Given the description of an element on the screen output the (x, y) to click on. 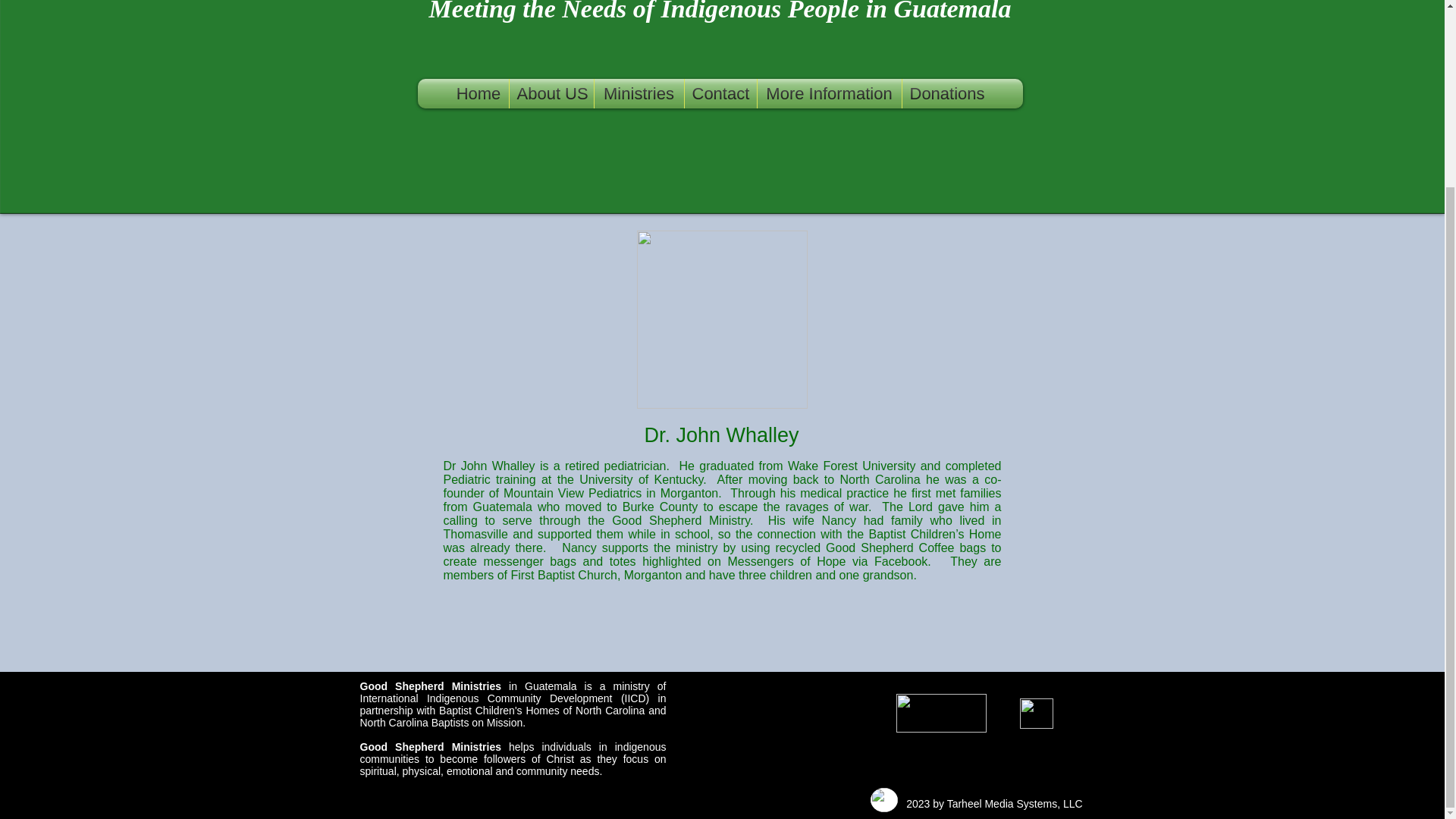
Home (478, 93)
More Information (829, 93)
About US (551, 93)
DrJohnWhalley-225x235.jpg (722, 319)
Contact (719, 93)
Ministries (639, 93)
Donations (946, 93)
Good Shepherd Ministries Color Logo.png (884, 799)
